Given the description of an element on the screen output the (x, y) to click on. 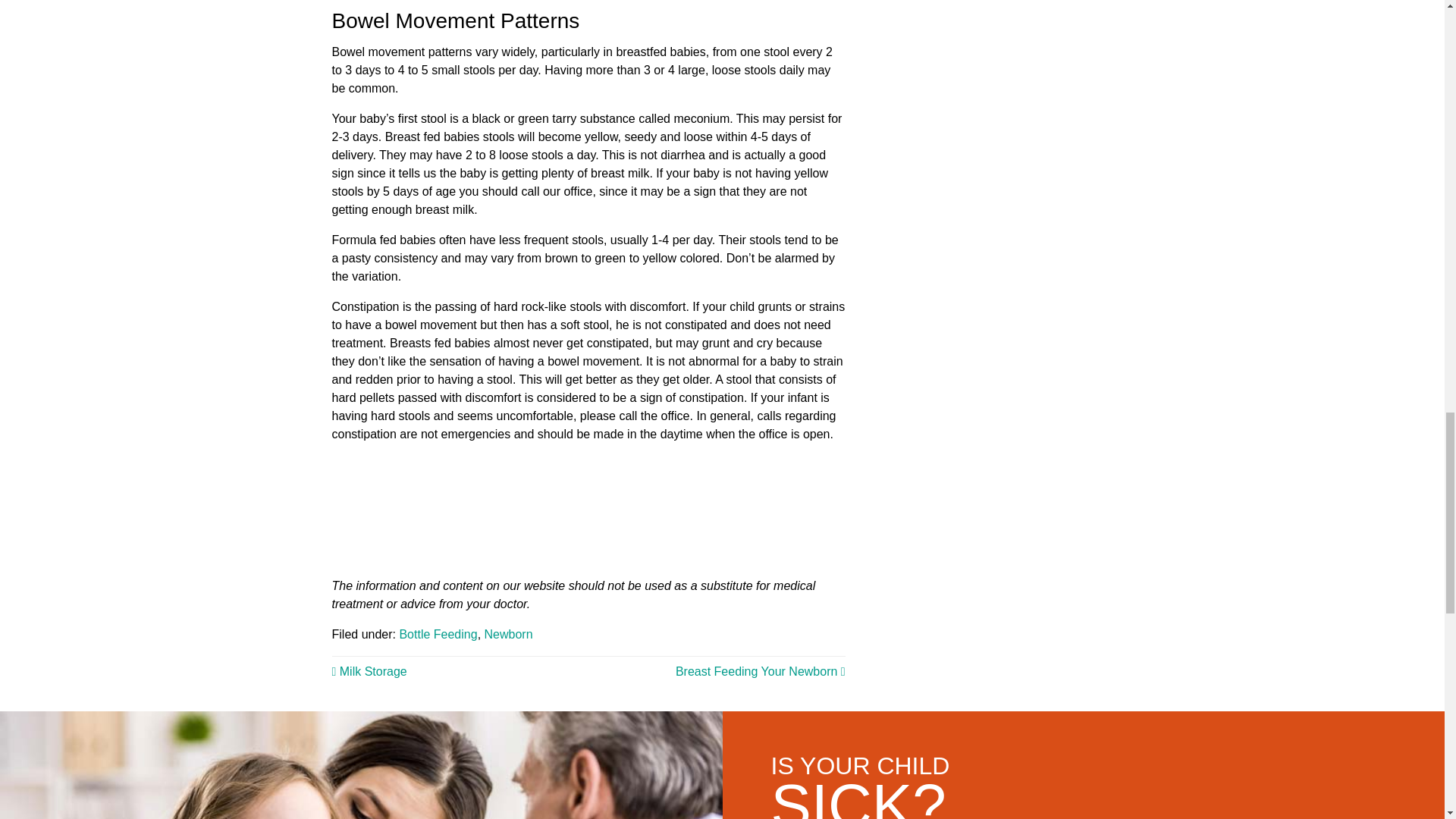
Breast Feeding Your Newborn (760, 671)
Milk Storage (369, 671)
Bottle Feeding (437, 634)
Newborn (508, 634)
